Given the description of an element on the screen output the (x, y) to click on. 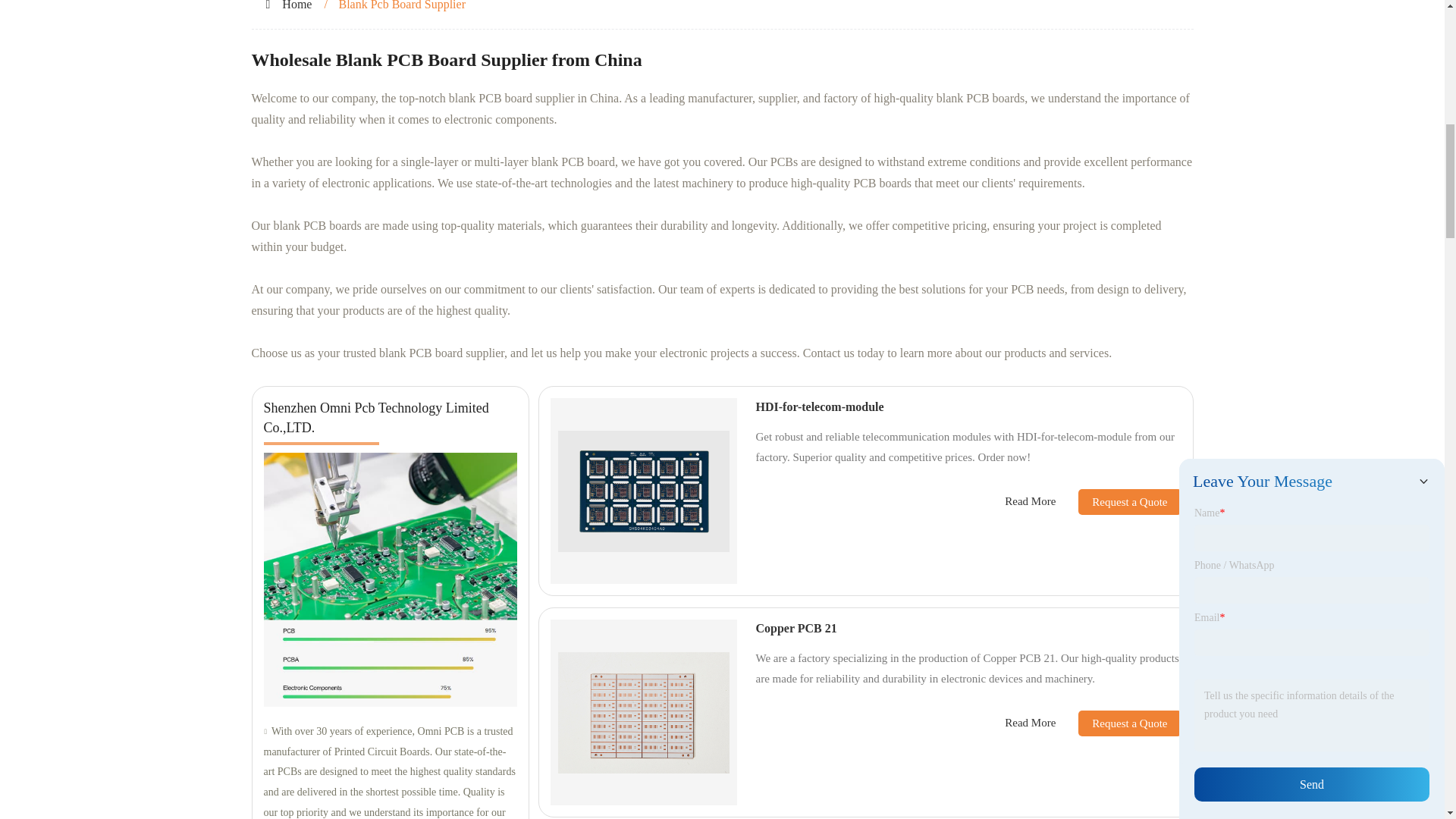
Request a Quote (1117, 501)
Read More (1029, 501)
Copper PCB 21 (795, 627)
HDI-for-telecom-module (819, 406)
Home (296, 5)
Read More (1029, 723)
